Given the description of an element on the screen output the (x, y) to click on. 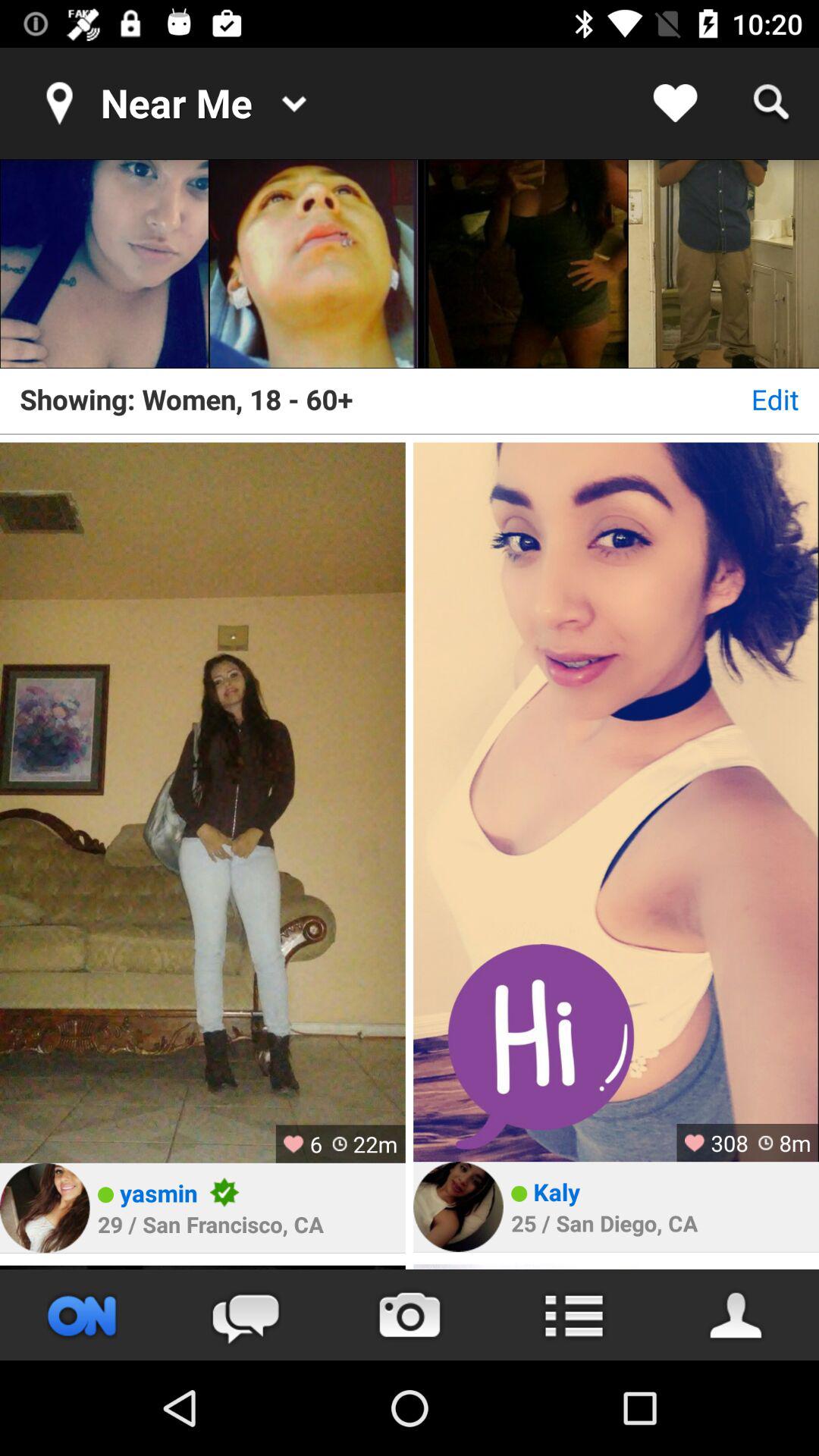
open camera (409, 1315)
